Given the description of an element on the screen output the (x, y) to click on. 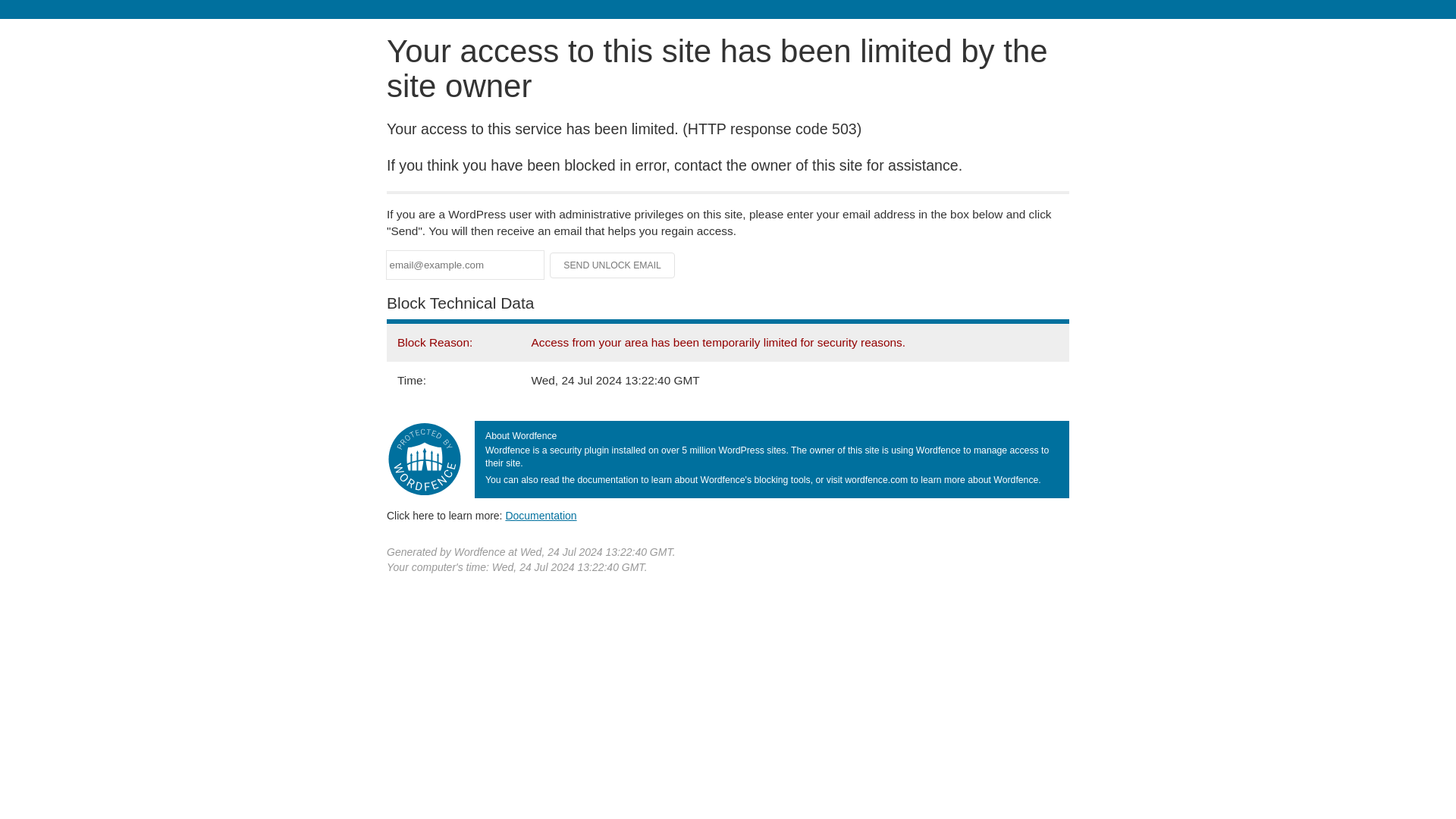
Documentation (540, 515)
Send Unlock Email (612, 265)
Send Unlock Email (612, 265)
